Given the description of an element on the screen output the (x, y) to click on. 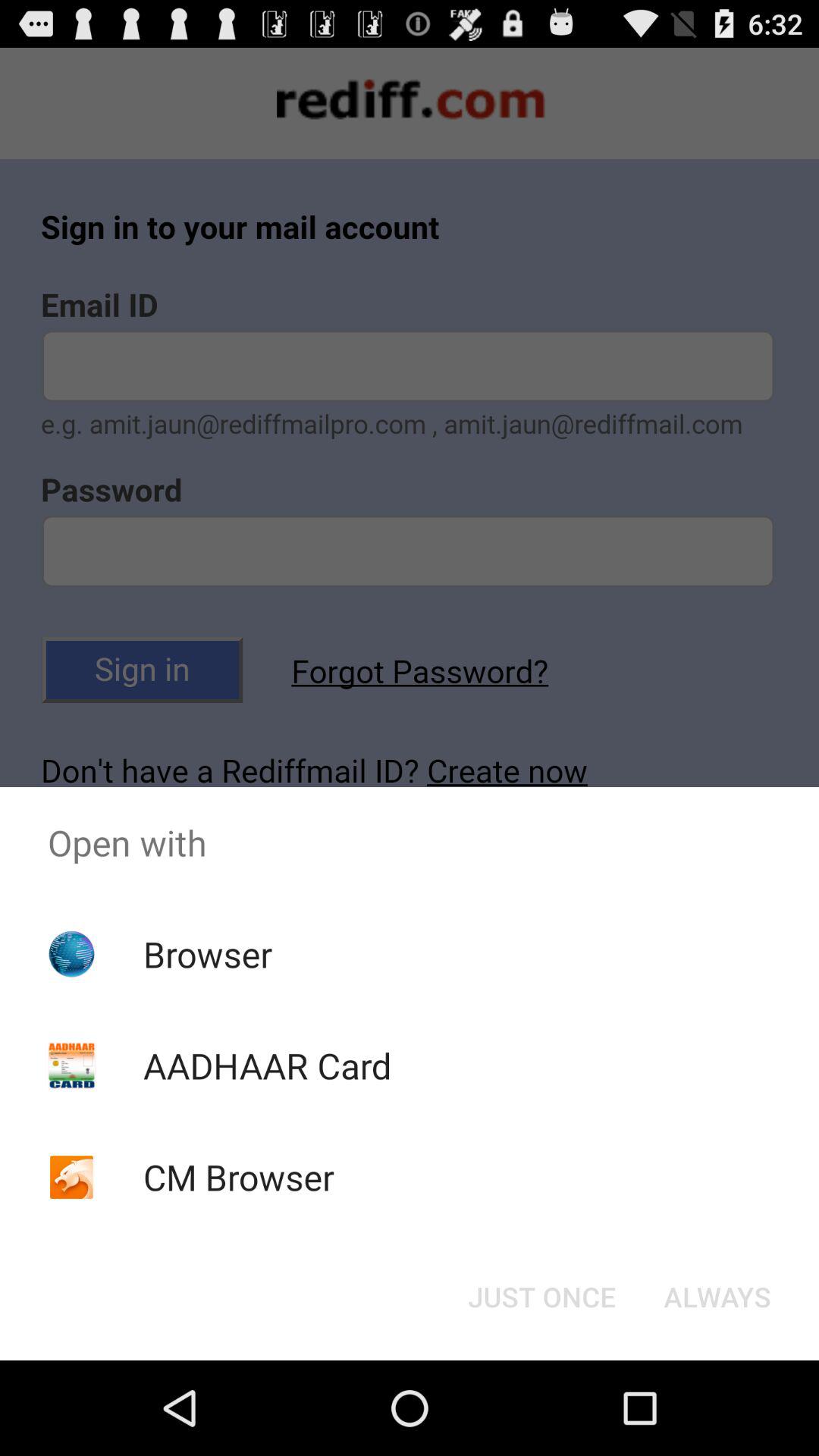
open item next to always button (541, 1296)
